Given the description of an element on the screen output the (x, y) to click on. 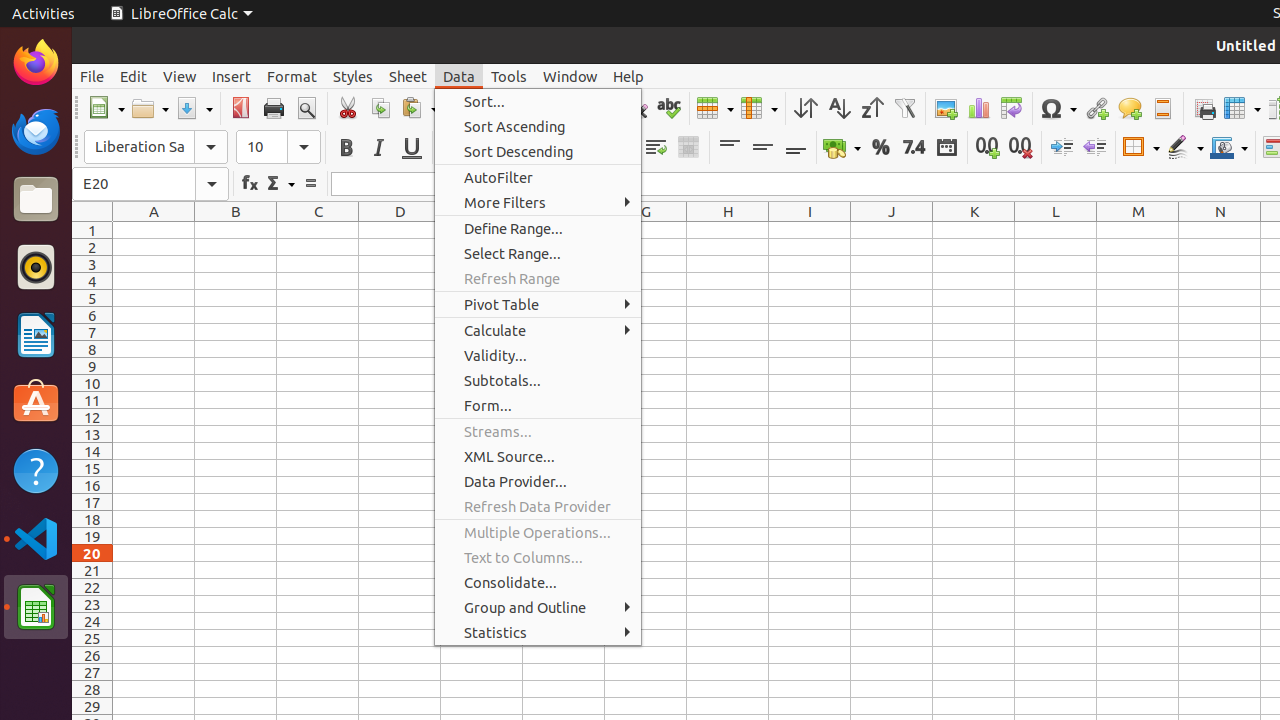
Cut Element type: push-button (347, 108)
H1 Element type: table-cell (728, 230)
Spelling Element type: push-button (668, 108)
File Element type: menu (92, 76)
Consolidate... Element type: menu-item (538, 582)
